Given the description of an element on the screen output the (x, y) to click on. 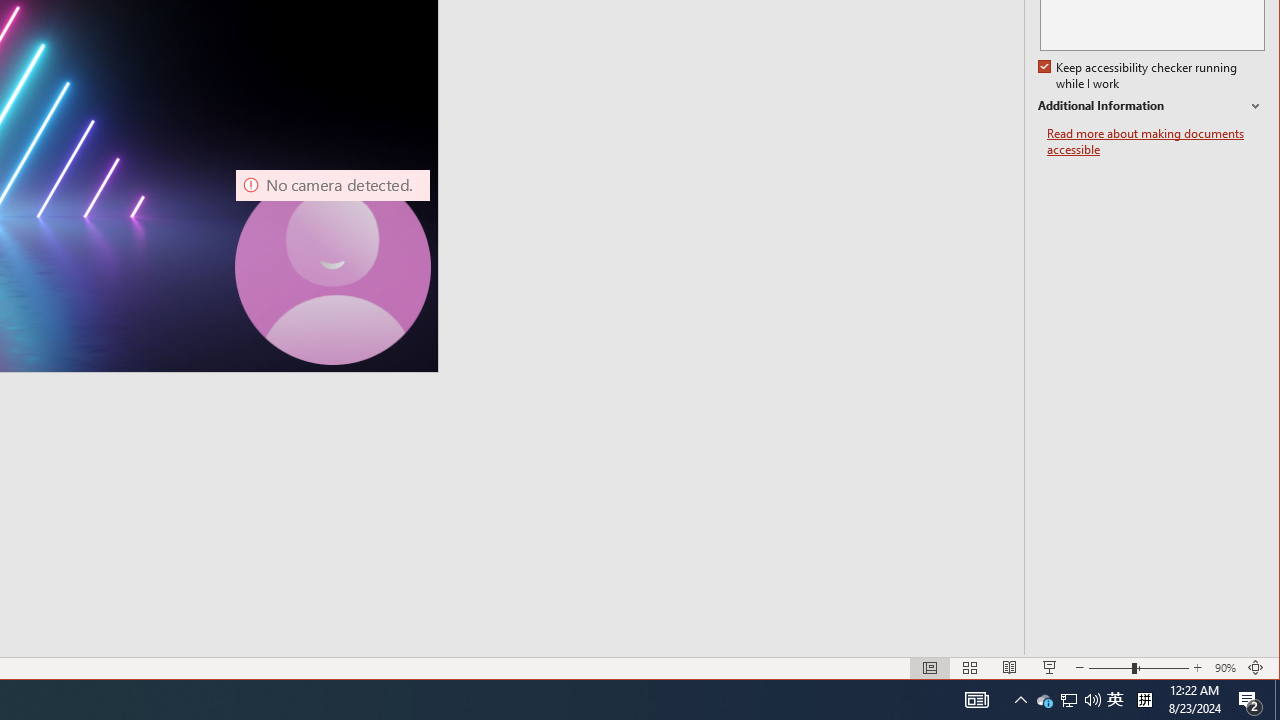
Action Center, 2 new notifications (1250, 699)
Camera 7, No camera detected. (333, 267)
Zoom 90% (1225, 668)
Keep accessibility checker running while I work (1115, 699)
